Given the description of an element on the screen output the (x, y) to click on. 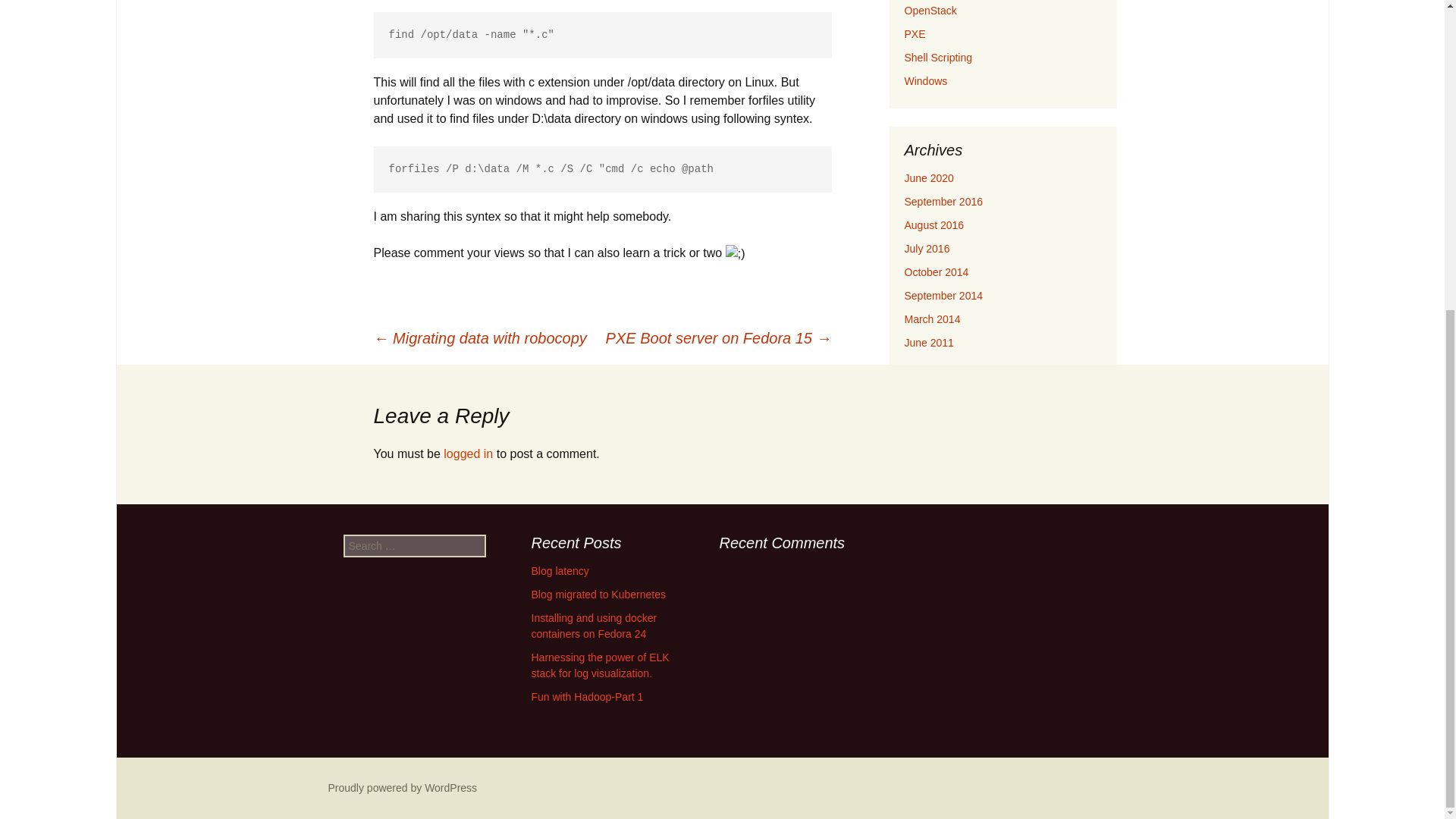
August 2016 (933, 224)
logged in (468, 453)
September 2016 (943, 201)
Windows (925, 80)
PXE (914, 33)
March 2014 (931, 318)
September 2014 (943, 295)
June 2020 (928, 177)
Shell Scripting (938, 57)
Blog latency (559, 571)
October 2014 (936, 272)
OpenStack (930, 10)
July 2016 (926, 248)
June 2011 (928, 342)
